Given the description of an element on the screen output the (x, y) to click on. 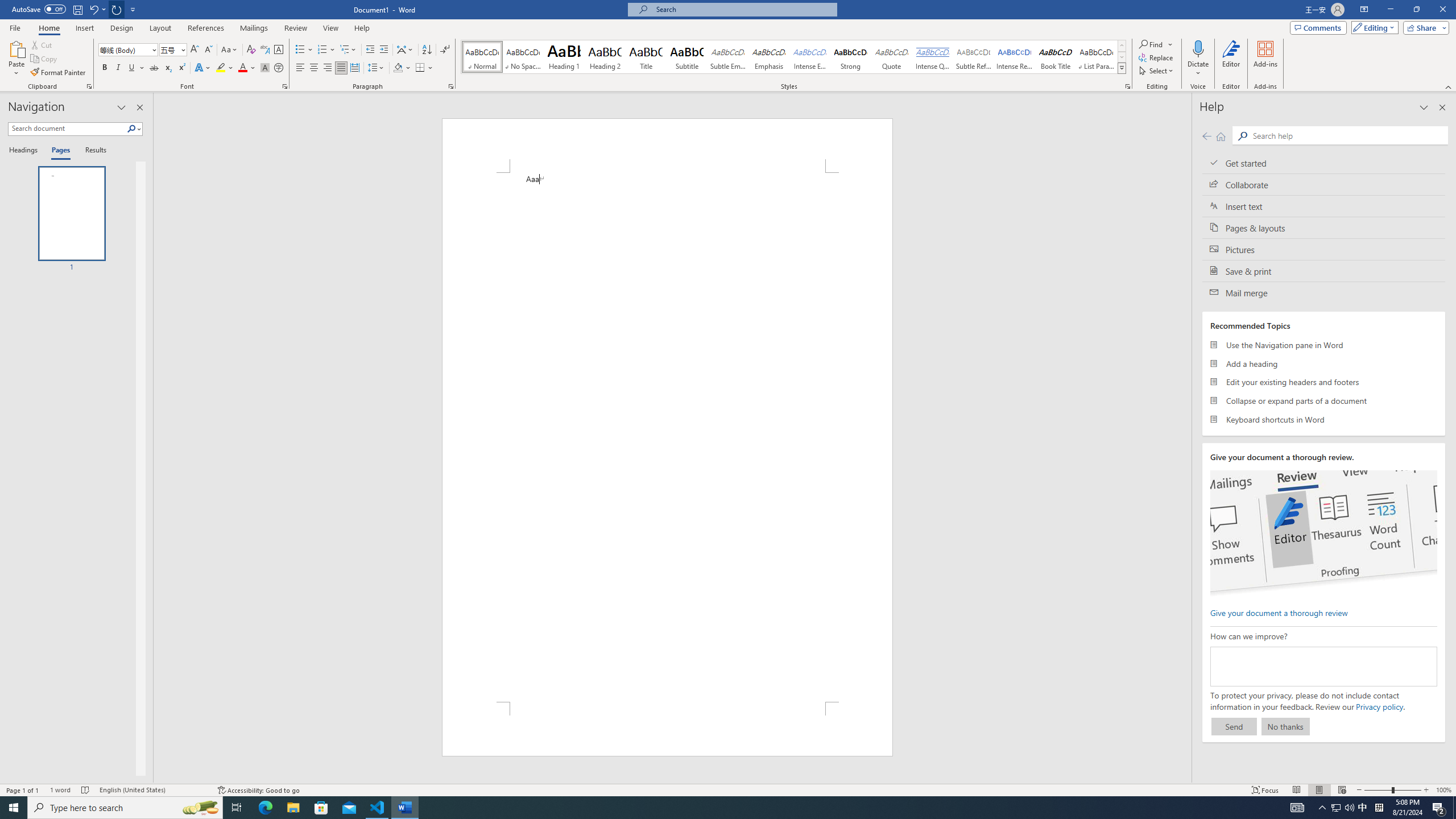
Intense Quote (932, 56)
Collaborate (1323, 184)
Keyboard shortcuts in Word (1323, 419)
Get started (1323, 162)
Intense Reference (1014, 56)
